Given the description of an element on the screen output the (x, y) to click on. 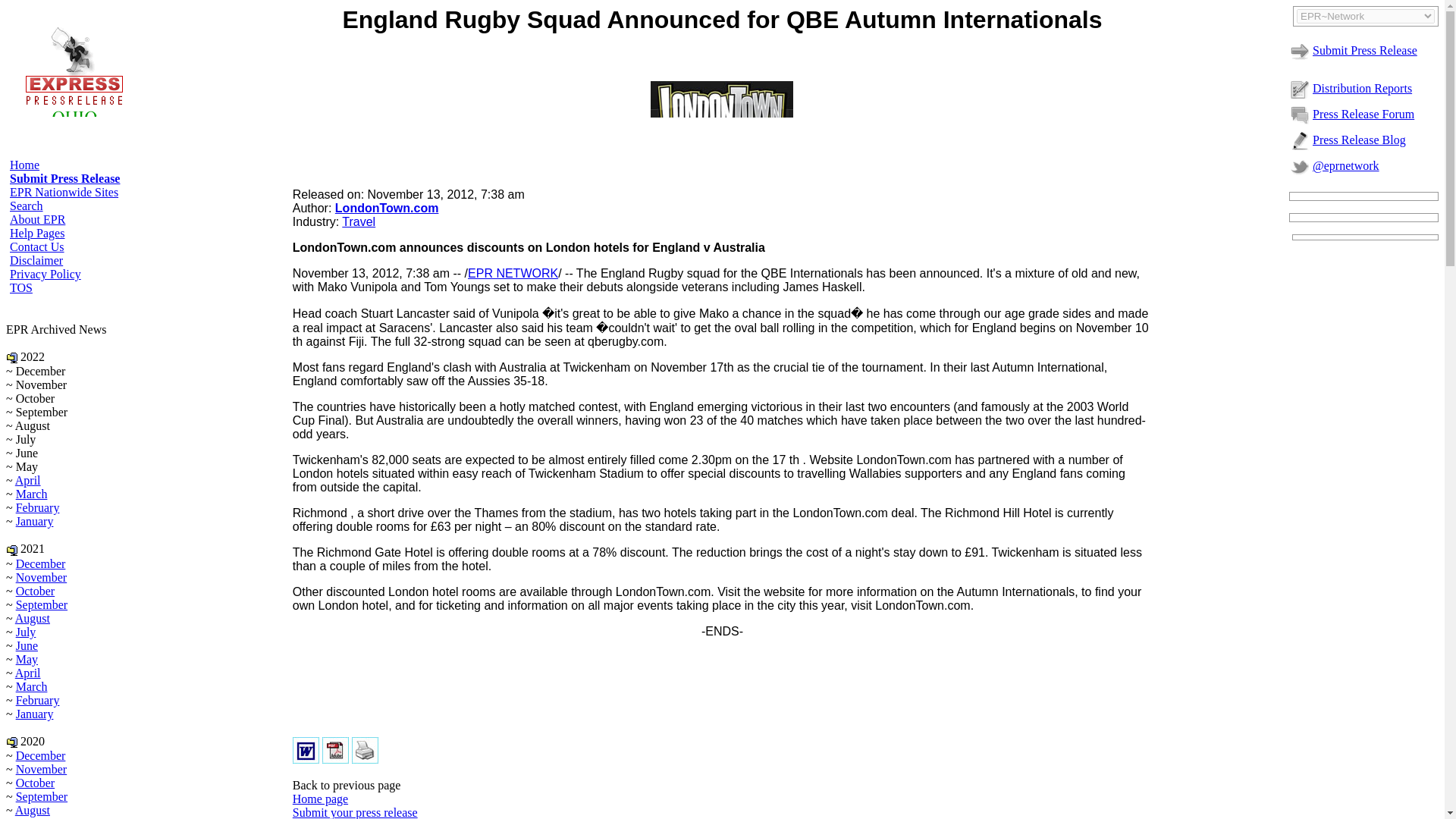
November (41, 576)
TOS (21, 287)
June (26, 645)
July (26, 631)
April (27, 480)
Search (26, 205)
February (37, 507)
December (40, 563)
About EPR (37, 219)
July (26, 818)
